Given the description of an element on the screen output the (x, y) to click on. 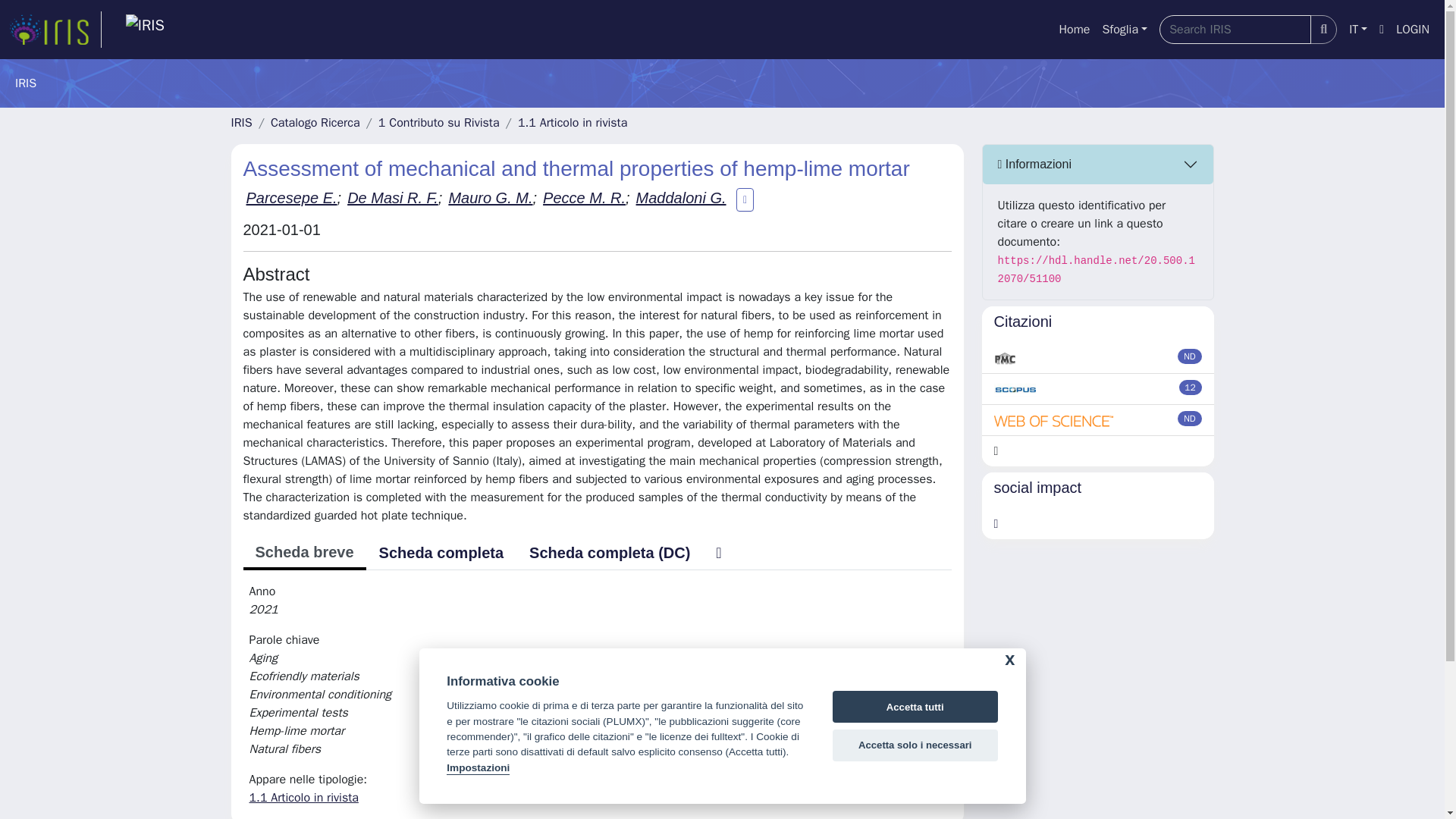
aggiornato in data 28-07-2024 18:03 (1190, 387)
Maddaloni G. (681, 197)
IT (1357, 29)
Scheda completa (441, 552)
Sfoglia (1124, 29)
De Masi R. F. (392, 197)
1 Contributo su Rivista (438, 122)
Mauro G. M. (490, 197)
1.1 Articolo in rivista (572, 122)
Scheda breve (304, 553)
Home (1074, 29)
LOGIN (1412, 29)
IRIS (240, 122)
 Informazioni (1097, 164)
Catalogo Ricerca (314, 122)
